Given the description of an element on the screen output the (x, y) to click on. 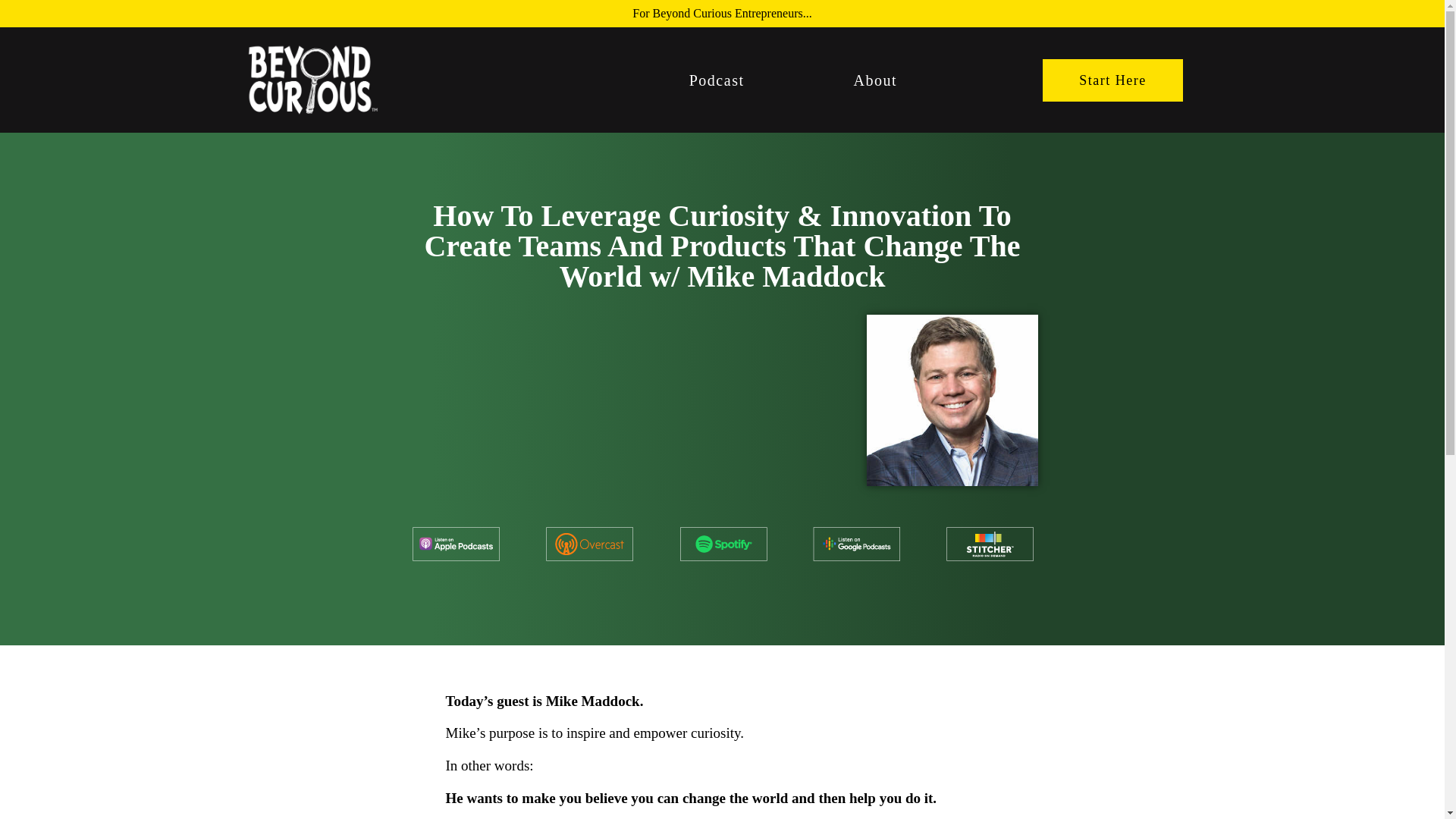
Start Here (1112, 79)
Podcast (716, 80)
About (874, 80)
